Given the description of an element on the screen output the (x, y) to click on. 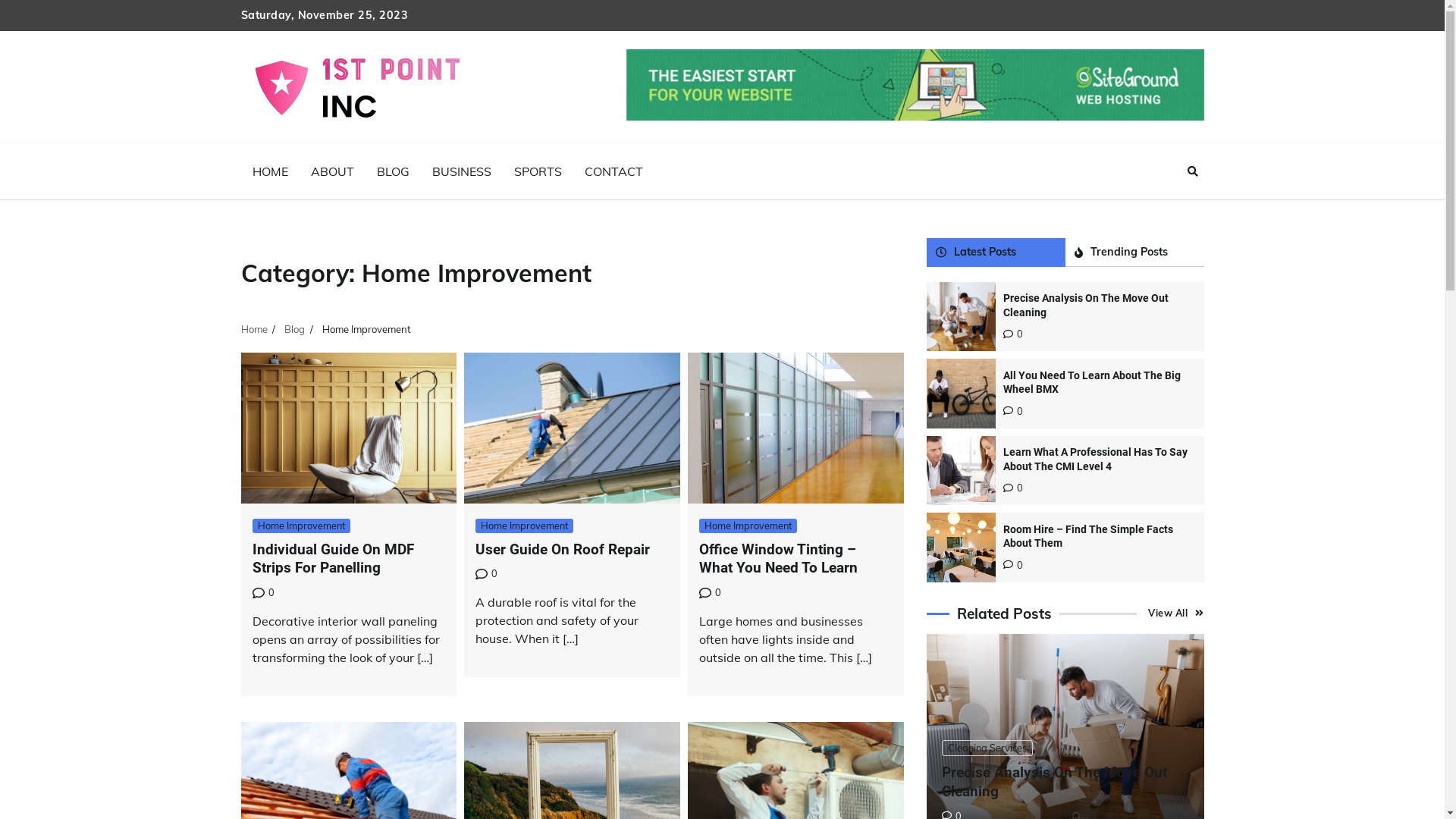
User Guide On Roof Repair Element type: text (562, 549)
Individual Guide On MDF Strips For Panelling Element type: text (332, 558)
View All Element type: text (1176, 613)
Home Improvement Element type: text (300, 525)
Search Element type: hover (1192, 171)
Home Element type: text (254, 329)
BLOG Element type: text (392, 170)
Home Improvement Element type: text (524, 525)
Search Element type: text (1164, 206)
Home Improvement Element type: text (748, 525)
HOME Element type: text (270, 170)
Learn What A Professional Has To Say About The CMI Level 4 Element type: text (1095, 458)
All You Need To Learn About The Big Wheel BMX Element type: text (1091, 382)
Precise Analysis On The Move Out Cleaning Element type: text (1054, 781)
Precise Analysis On The Move Out Cleaning Element type: text (1085, 304)
Blog Element type: text (294, 329)
BUSINESS Element type: text (461, 170)
Cleaning Services Element type: text (986, 748)
Latest Posts Element type: text (995, 252)
SPORTS Element type: text (537, 170)
Trending Posts Element type: text (1133, 252)
CONTACT Element type: text (613, 170)
ABOUT Element type: text (331, 170)
